Given the description of an element on the screen output the (x, y) to click on. 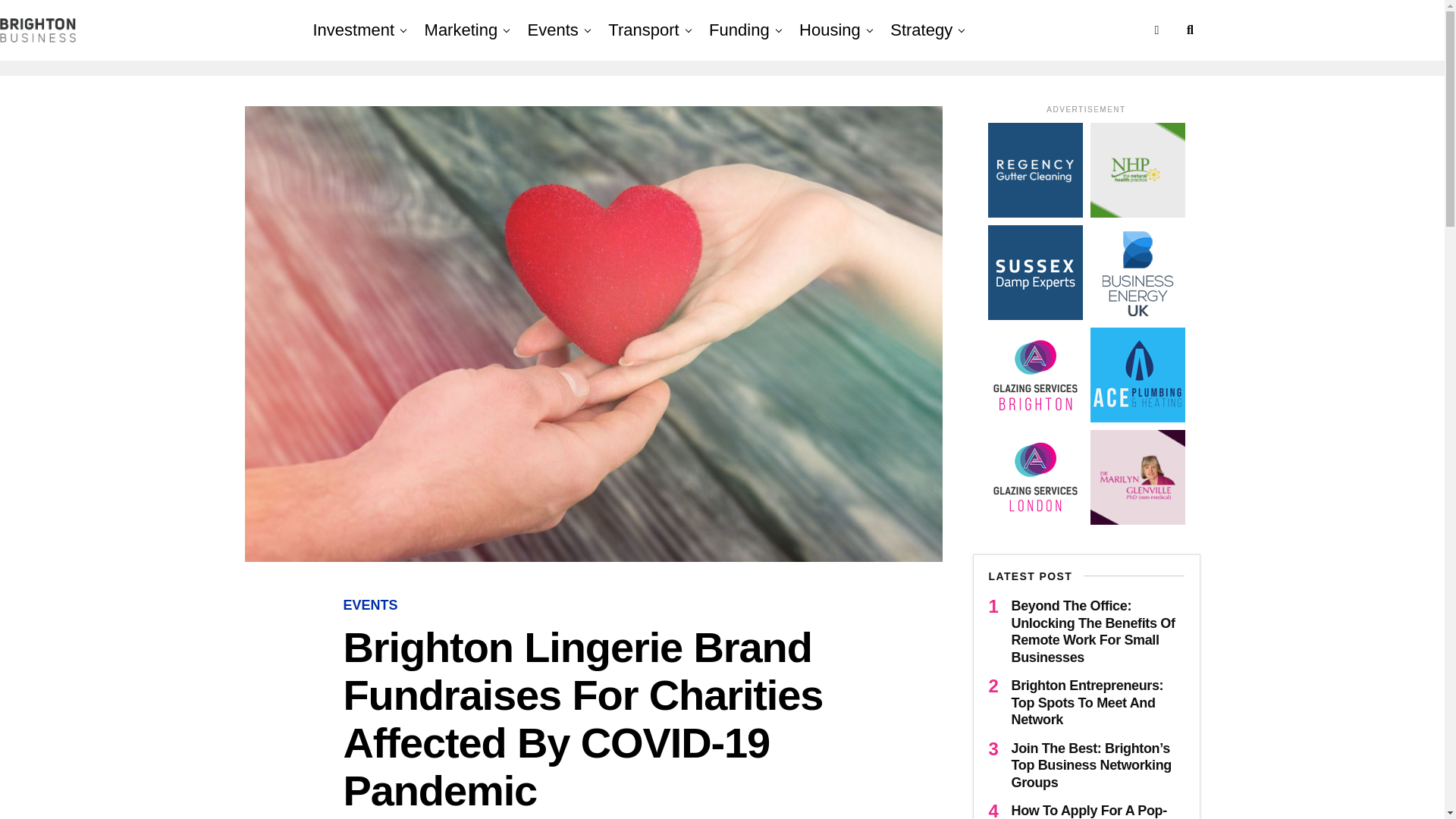
Investment (357, 30)
Events (552, 30)
Funding (739, 30)
Marketing (460, 30)
Transport (642, 30)
